Given the description of an element on the screen output the (x, y) to click on. 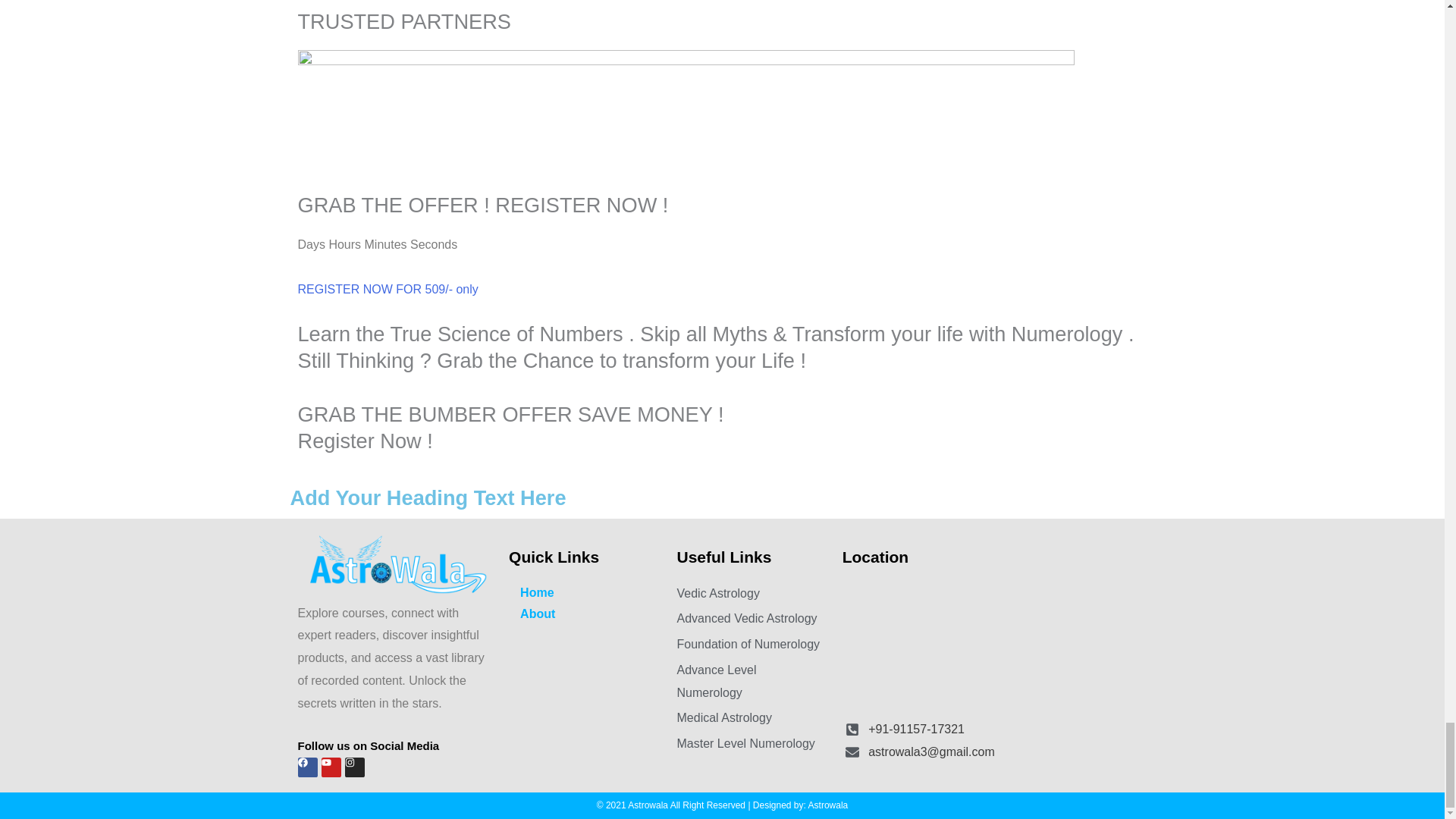
About (583, 613)
Home (583, 592)
Medical Astrology (751, 717)
Advance Level Numerology (751, 681)
Vedic Astrology (751, 593)
Advanced Vedic Astrology (751, 618)
Foundation of Numerology (751, 644)
Master Level Numerology (751, 743)
